Given the description of an element on the screen output the (x, y) to click on. 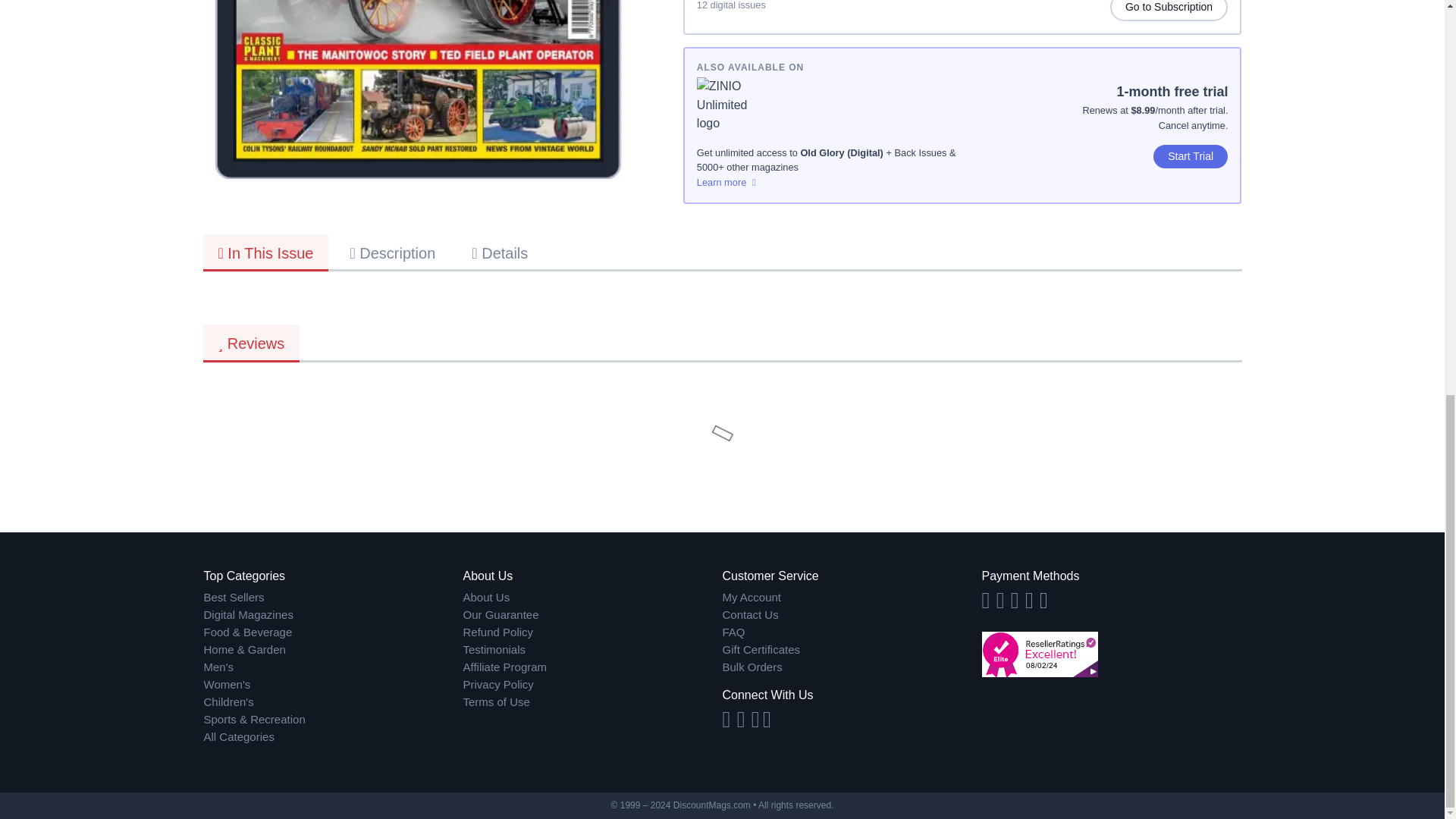
Men's (333, 667)
Children's (333, 702)
Description (391, 252)
Old Glory December 1st, 2020 Digital Back Issue Cover (419, 89)
My Account (851, 597)
Go to Subscription (1168, 10)
Learn more (829, 182)
Women's (333, 684)
Terms of Use (592, 702)
Start Trial (1190, 156)
Details (500, 252)
Our Guarantee (592, 615)
About Us (592, 597)
Privacy Policy (592, 684)
Best Sellers (333, 597)
